Given the description of an element on the screen output the (x, y) to click on. 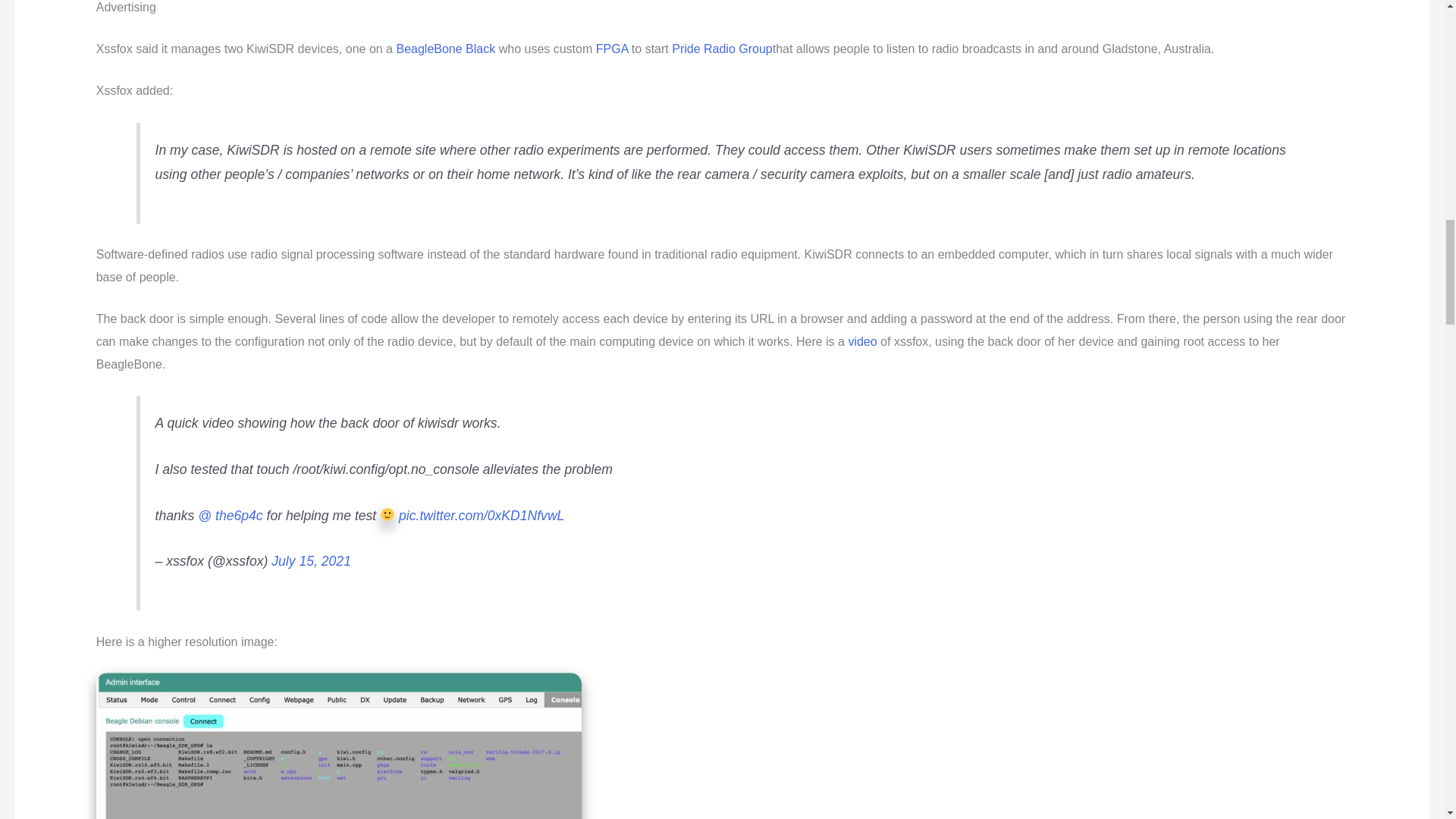
BeagleBone Black (445, 48)
video (861, 341)
Pride Radio Group (722, 48)
July 15, 2021 (310, 560)
FPGA (611, 48)
